Given the description of an element on the screen output the (x, y) to click on. 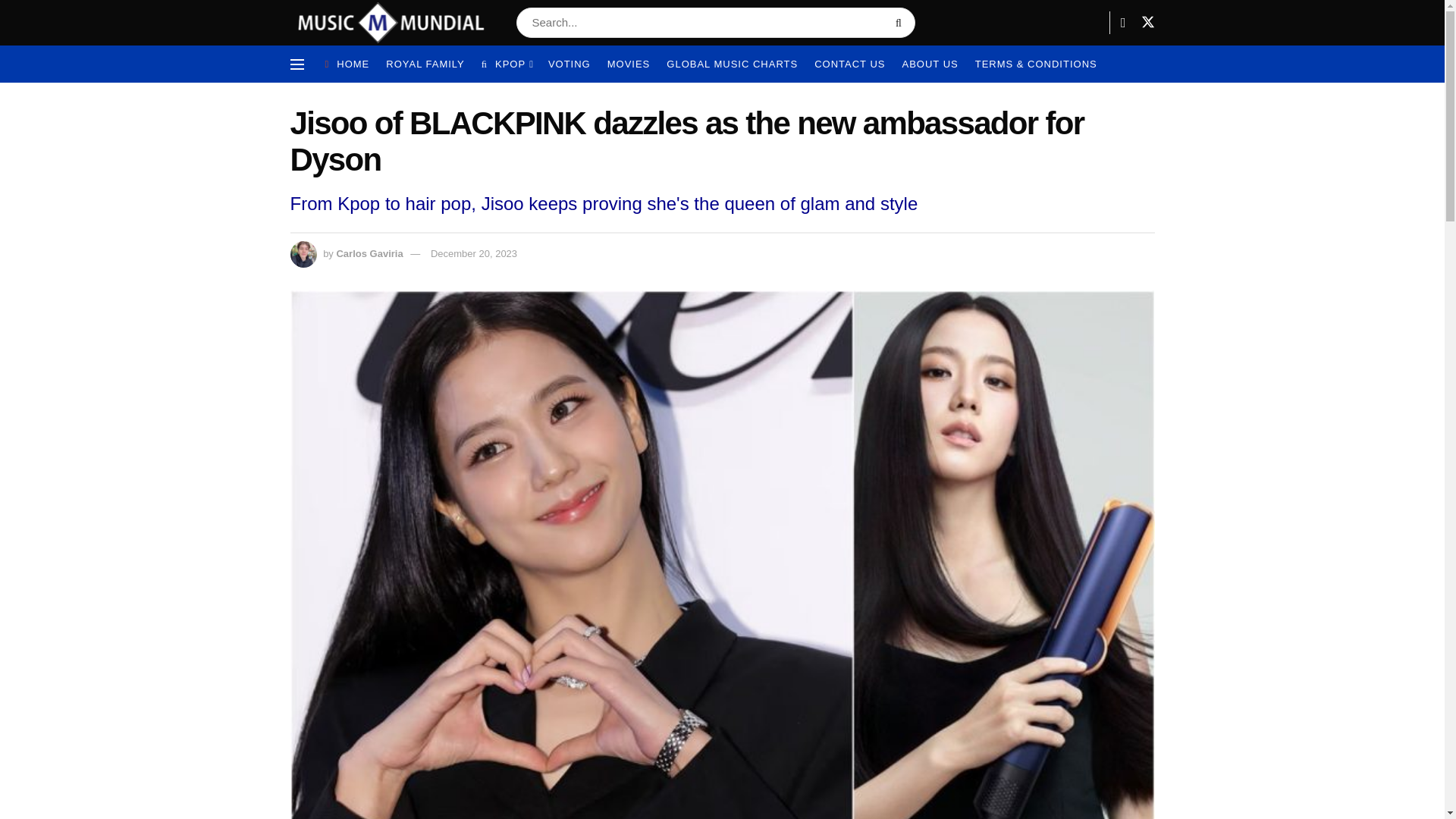
Carlos Gaviria (369, 253)
HOME (346, 63)
ROYAL FAMILY (424, 63)
GLOBAL MUSIC CHARTS (731, 63)
KPOP (506, 63)
ABOUT US (929, 63)
December 20, 2023 (473, 253)
MOVIES (628, 63)
VOTING (569, 63)
CONTACT US (849, 63)
